Given the description of an element on the screen output the (x, y) to click on. 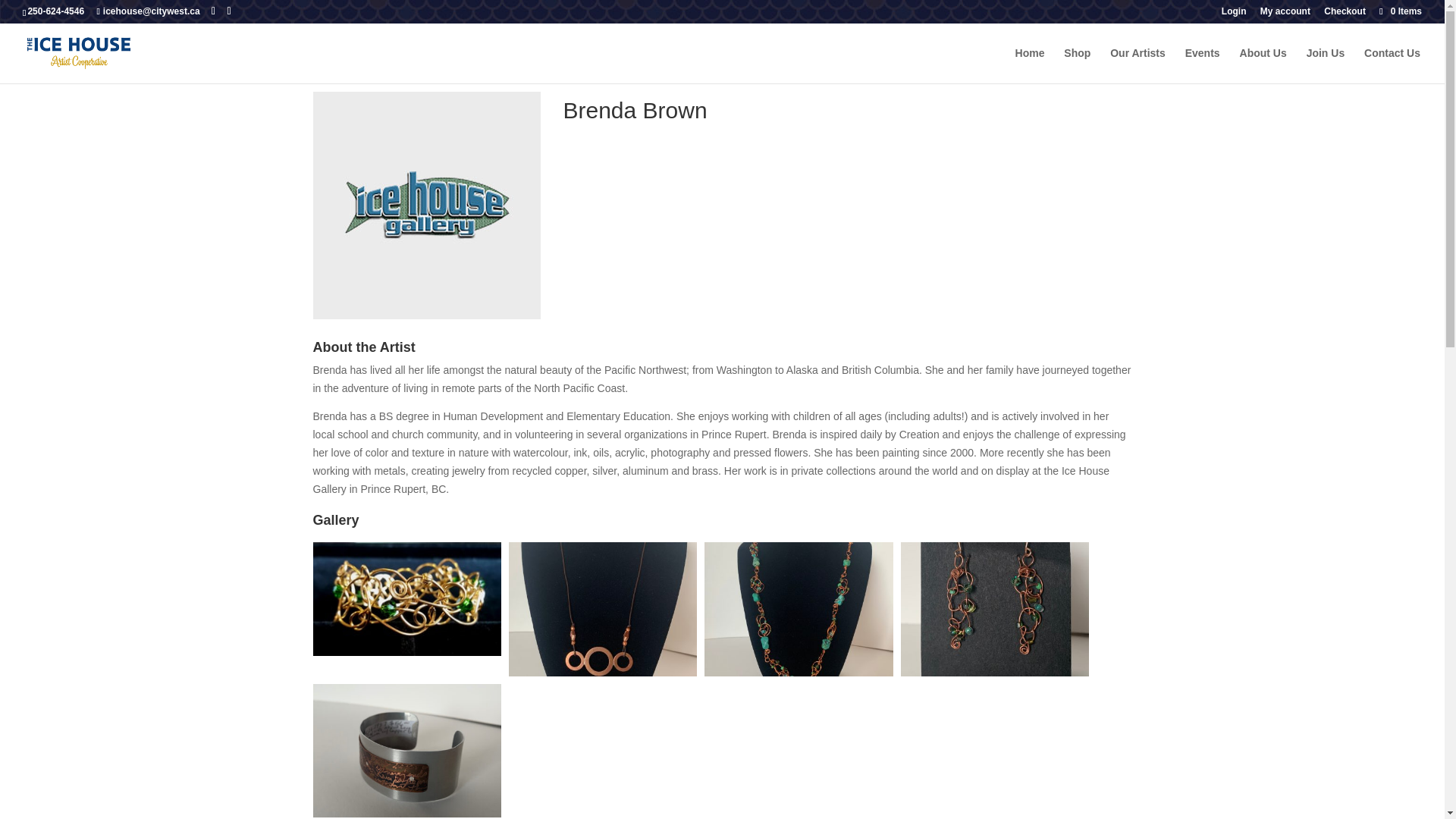
Contact Us (1392, 65)
0 Items (1399, 10)
Events (1202, 65)
Login (1233, 14)
About Us (1263, 65)
My account (1285, 14)
Our Artists (1137, 65)
Checkout (1344, 14)
Join Us (1325, 65)
